Given the description of an element on the screen output the (x, y) to click on. 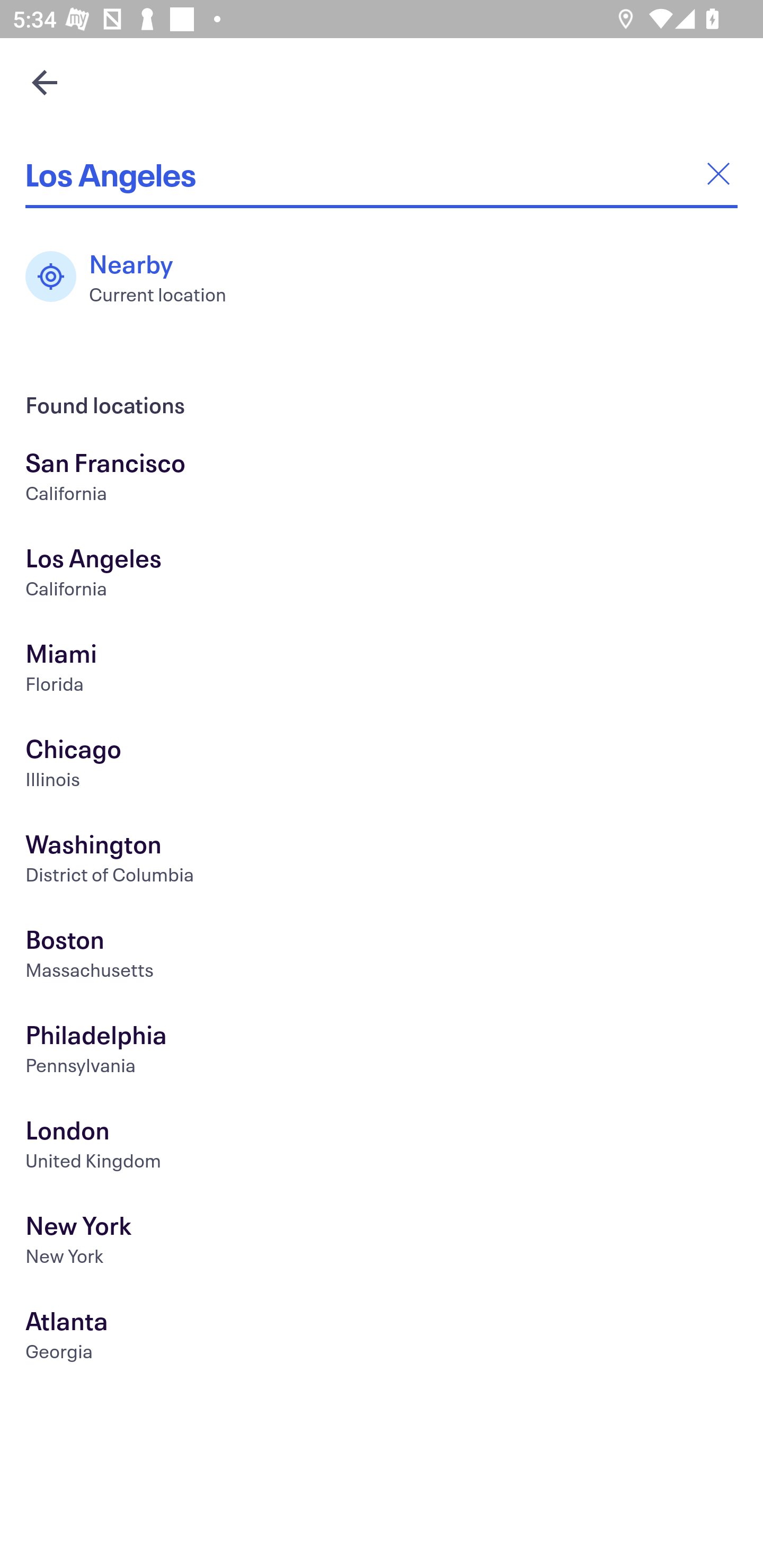
Navigate up (44, 82)
Los Angeles (381, 173)
Nearby Current location (135, 276)
San Francisco California (381, 479)
Los Angeles California (381, 574)
Miami Florida (381, 670)
Chicago Illinois (381, 765)
Washington District of Columbia (381, 861)
Boston Massachusetts (381, 955)
Philadelphia Pennsylvania (381, 1051)
London United Kingdom (381, 1146)
New York (381, 1242)
Atlanta Georgia (381, 1338)
